Given the description of an element on the screen output the (x, y) to click on. 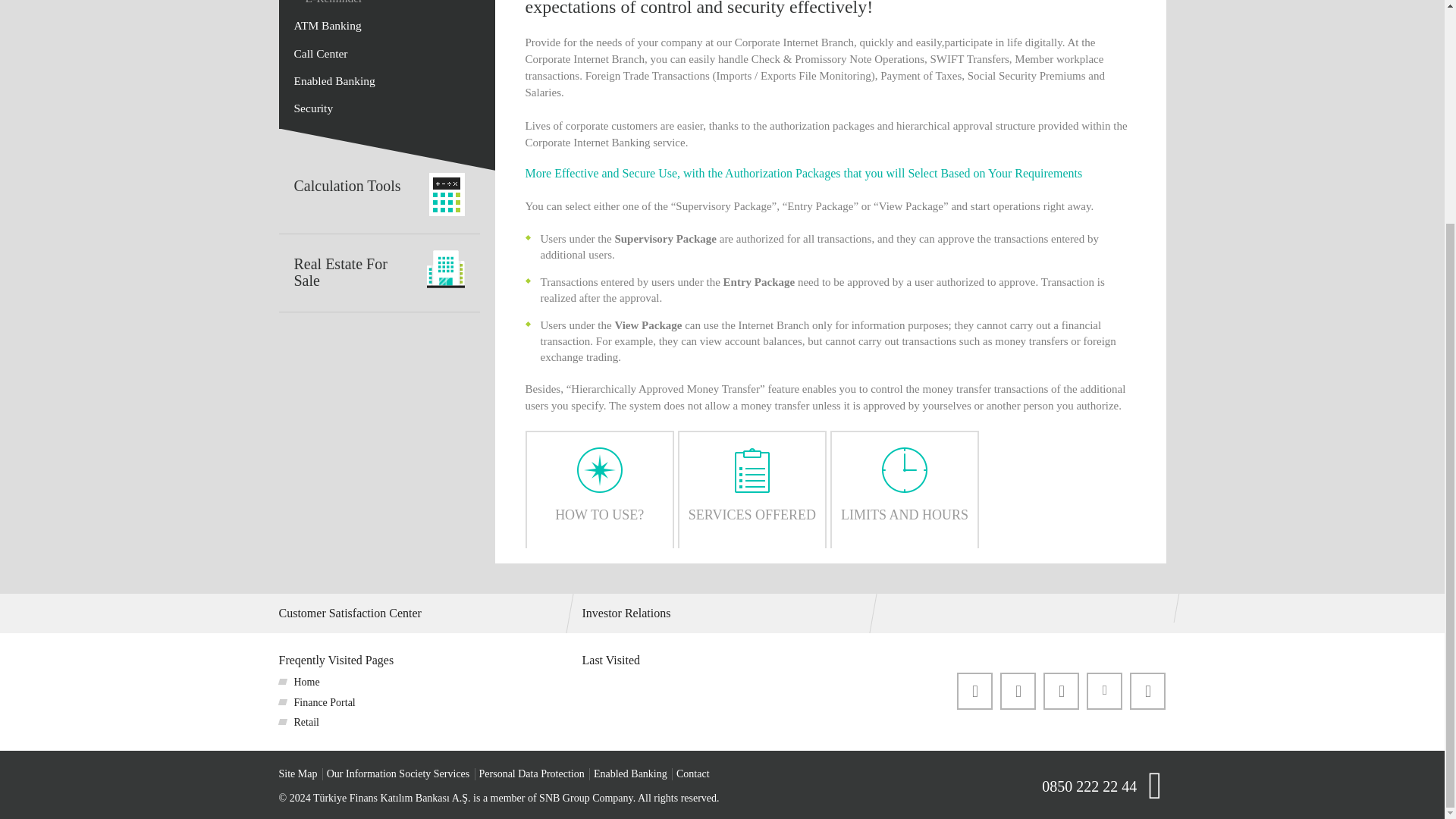
Our Information Society Services (398, 773)
Site Map (298, 773)
Youtube (1147, 691)
instagram (1061, 691)
Twitter (1017, 691)
Linkedin (1104, 689)
Facebook (974, 691)
